Given the description of an element on the screen output the (x, y) to click on. 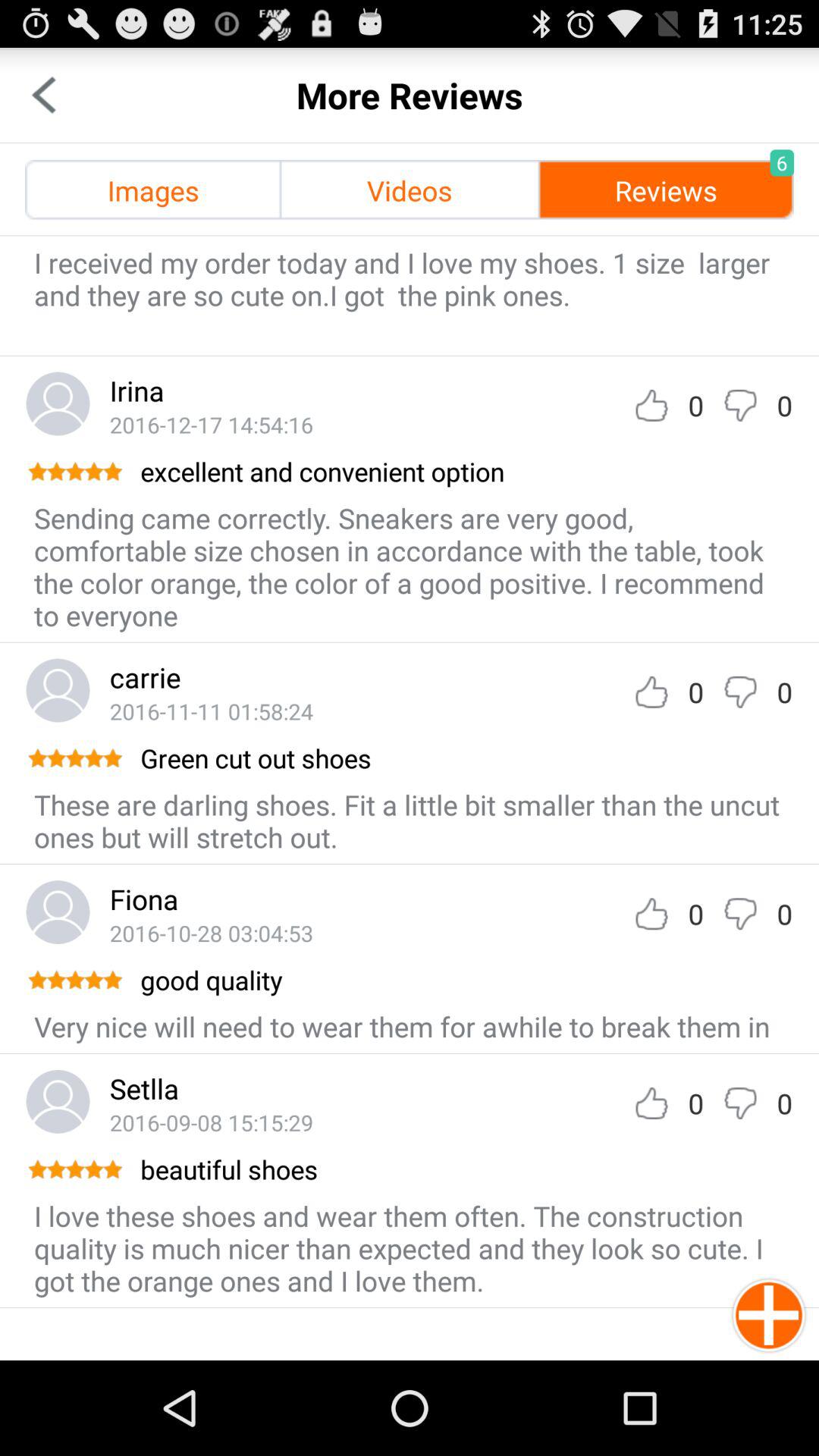
open the 2016 09 08 icon (211, 1122)
